Given the description of an element on the screen output the (x, y) to click on. 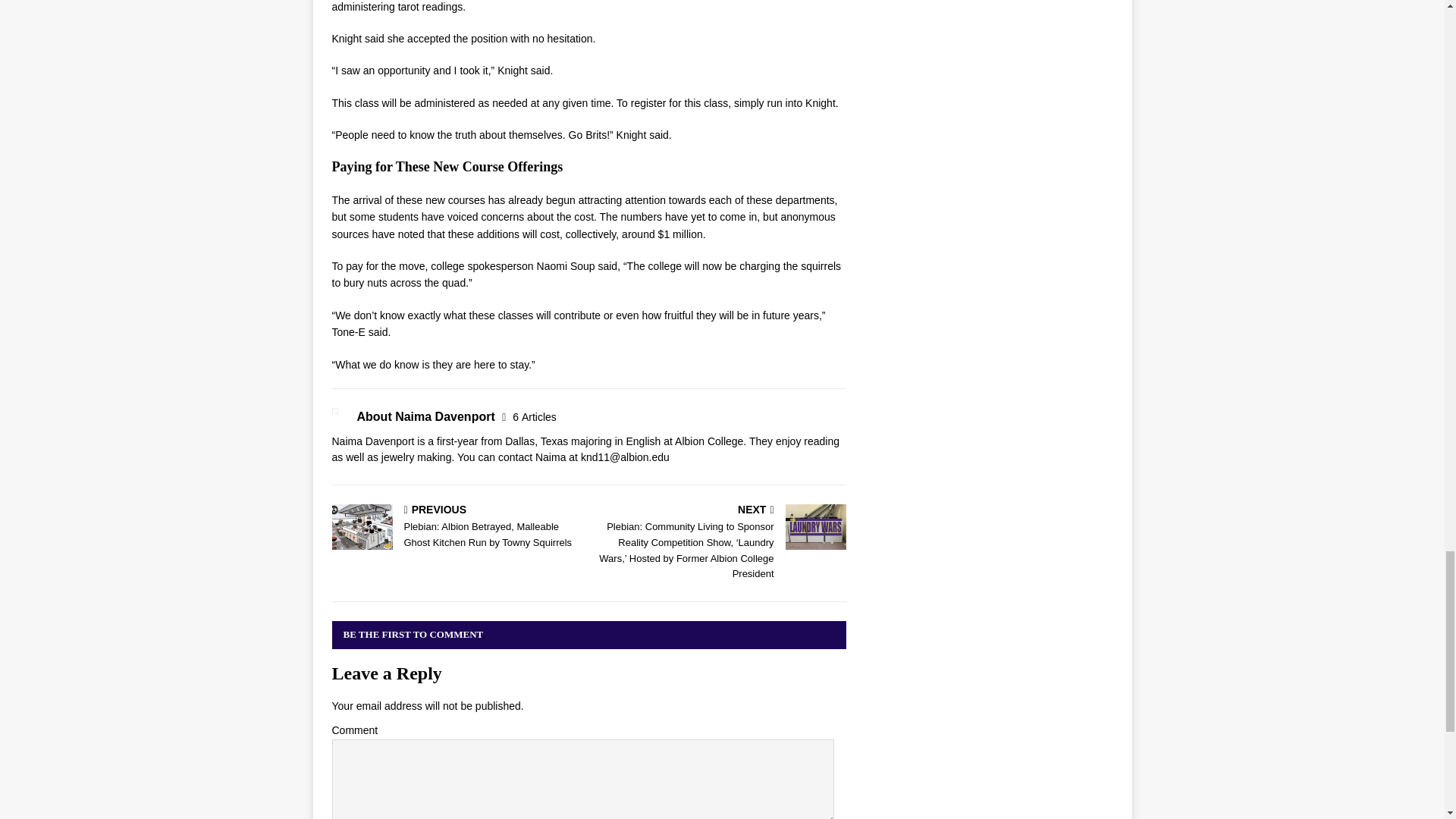
More articles written by Naima Davenport' (534, 417)
6 Articles (534, 417)
